Given the description of an element on the screen output the (x, y) to click on. 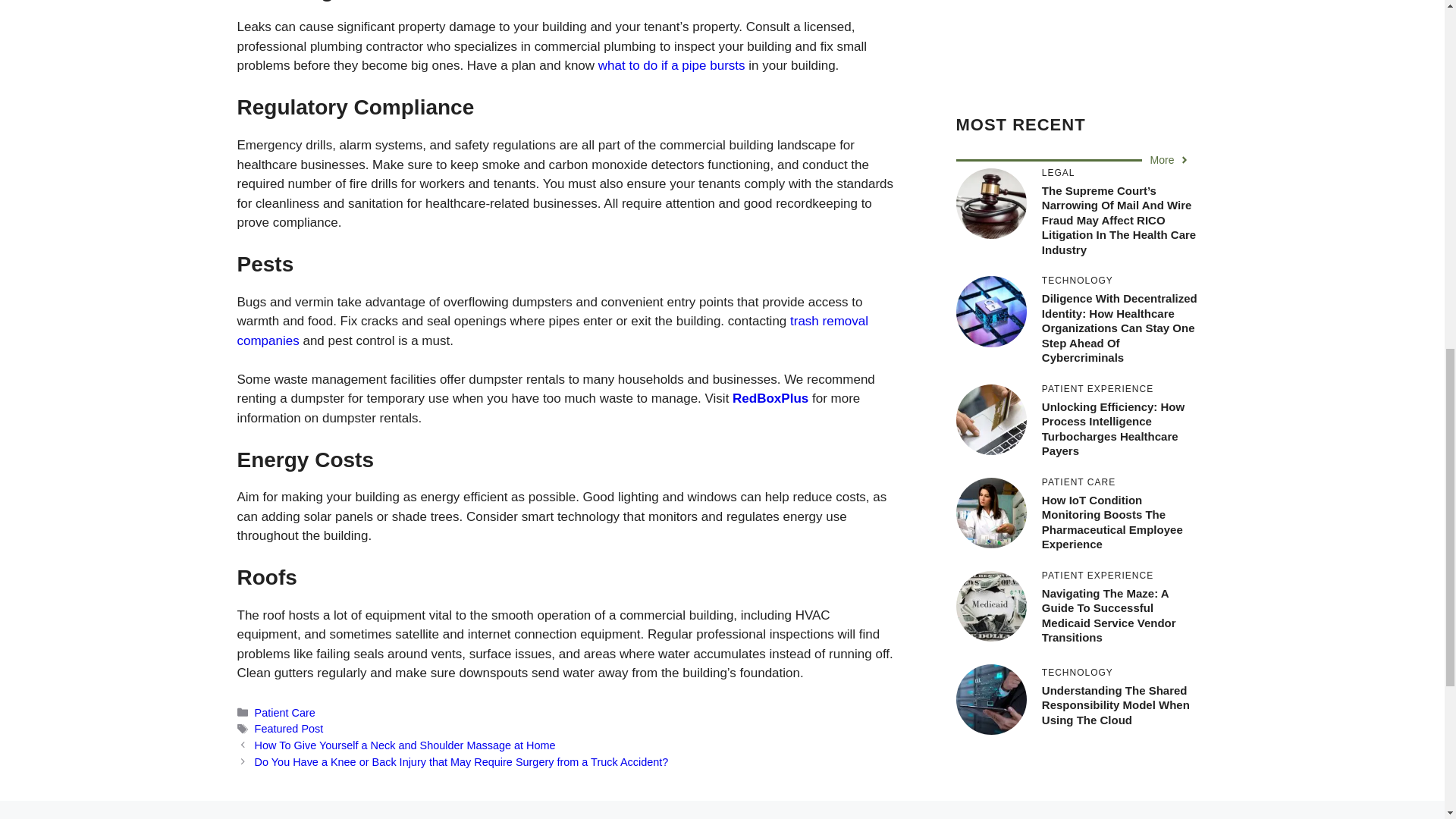
Featured Post (288, 728)
what to do if a pipe bursts (671, 65)
How To Give Yourself a Neck and Shoulder Massage at Home (405, 745)
Patient Care (284, 712)
trash removal companies (551, 330)
RedBoxPlus (770, 398)
